Given the description of an element on the screen output the (x, y) to click on. 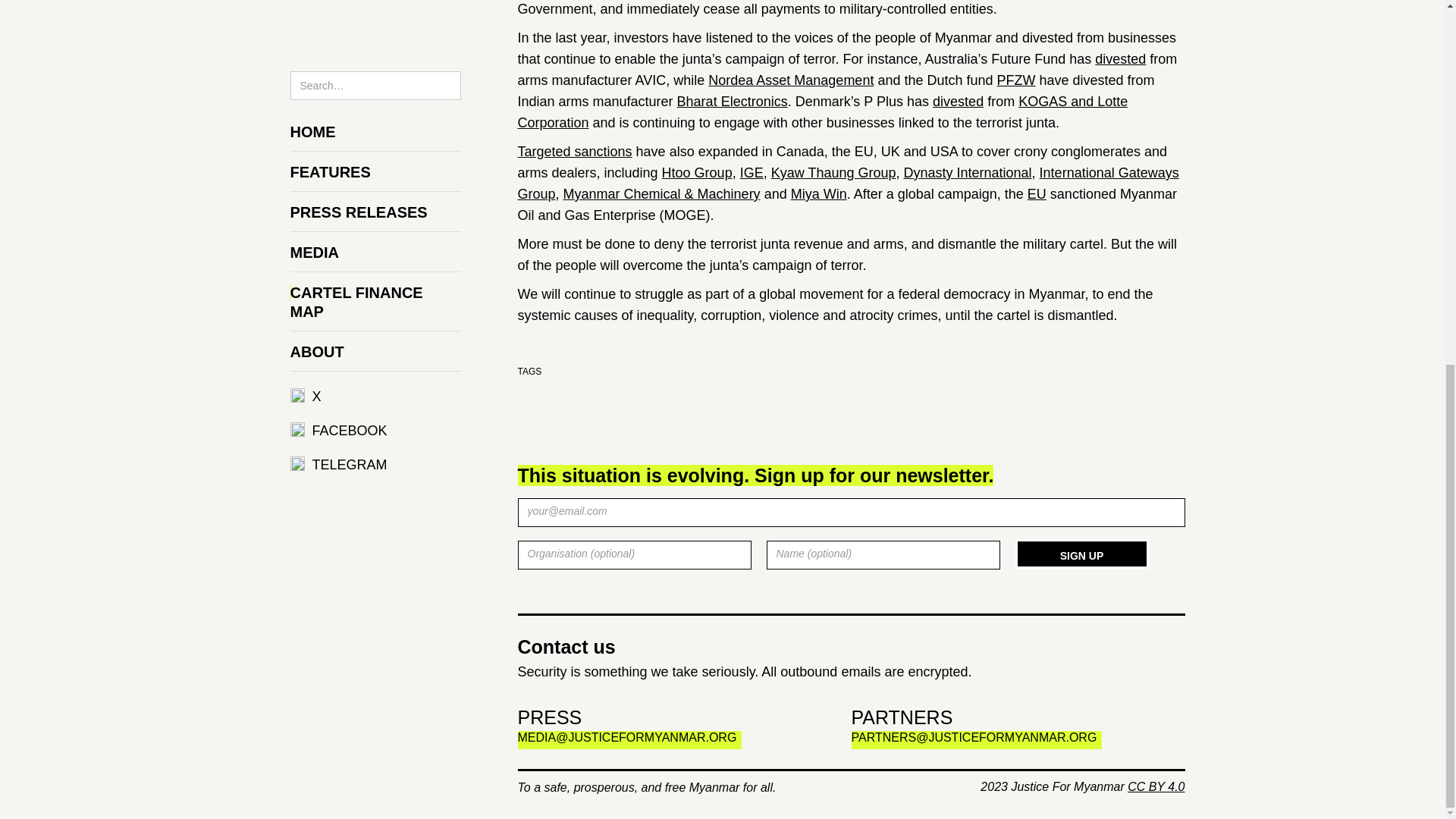
Sign Up (1081, 553)
Htoo Group (697, 172)
Dynasty International (968, 172)
PFZW (1016, 79)
International Gateways Group (846, 183)
Nordea Asset Management (790, 79)
divested (958, 101)
Targeted sanctions (573, 151)
Bharat Electronics (732, 101)
divested (1119, 58)
